Given the description of an element on the screen output the (x, y) to click on. 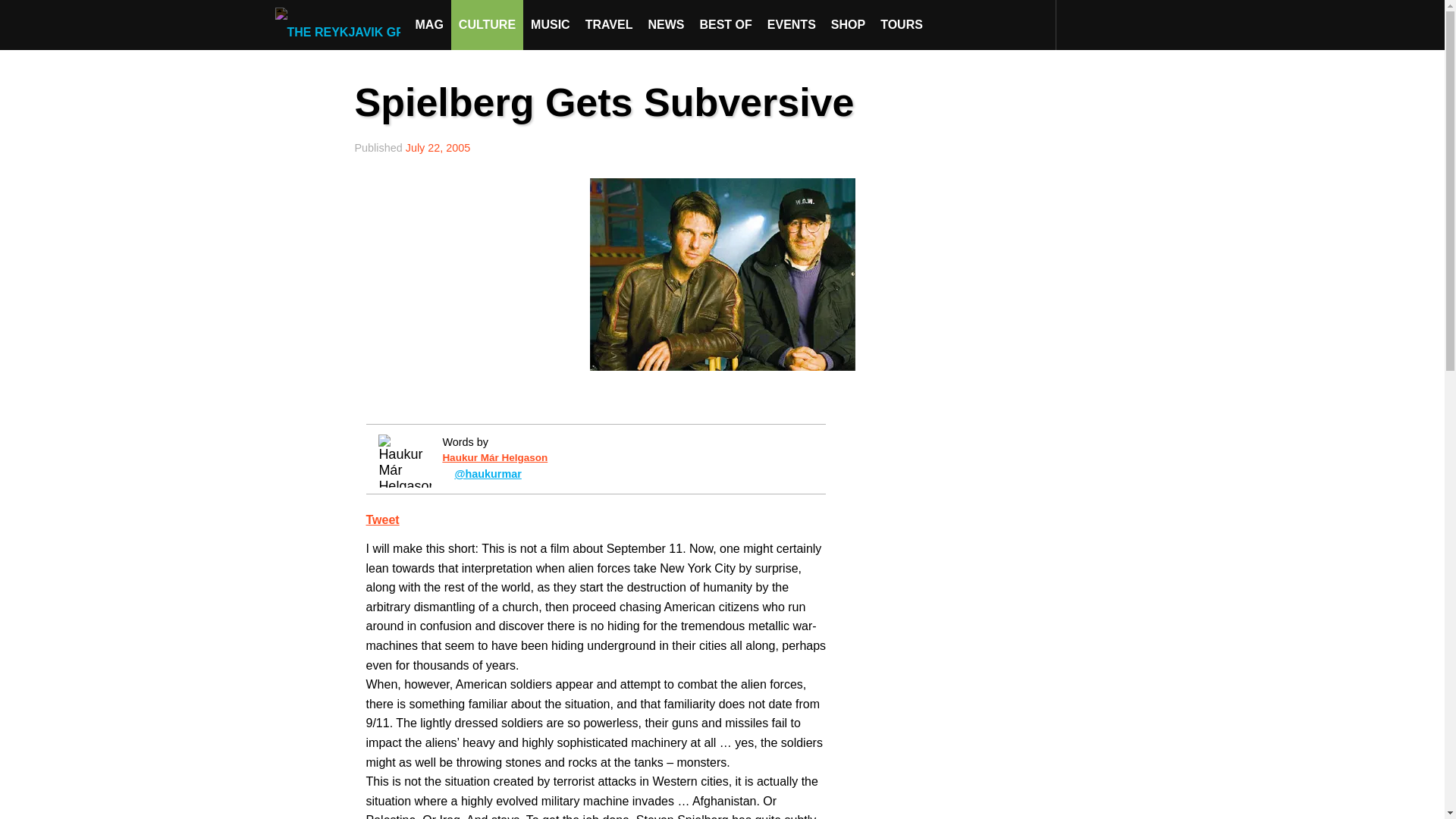
TOURS (901, 24)
CULTURE (486, 24)
BEST OF (724, 24)
Tweet (381, 519)
MUSIC (550, 24)
NEWS (665, 24)
The Reykjavik Grapevine (341, 24)
TRAVEL (609, 24)
EVENTS (792, 24)
SHOP (848, 24)
